Given the description of an element on the screen output the (x, y) to click on. 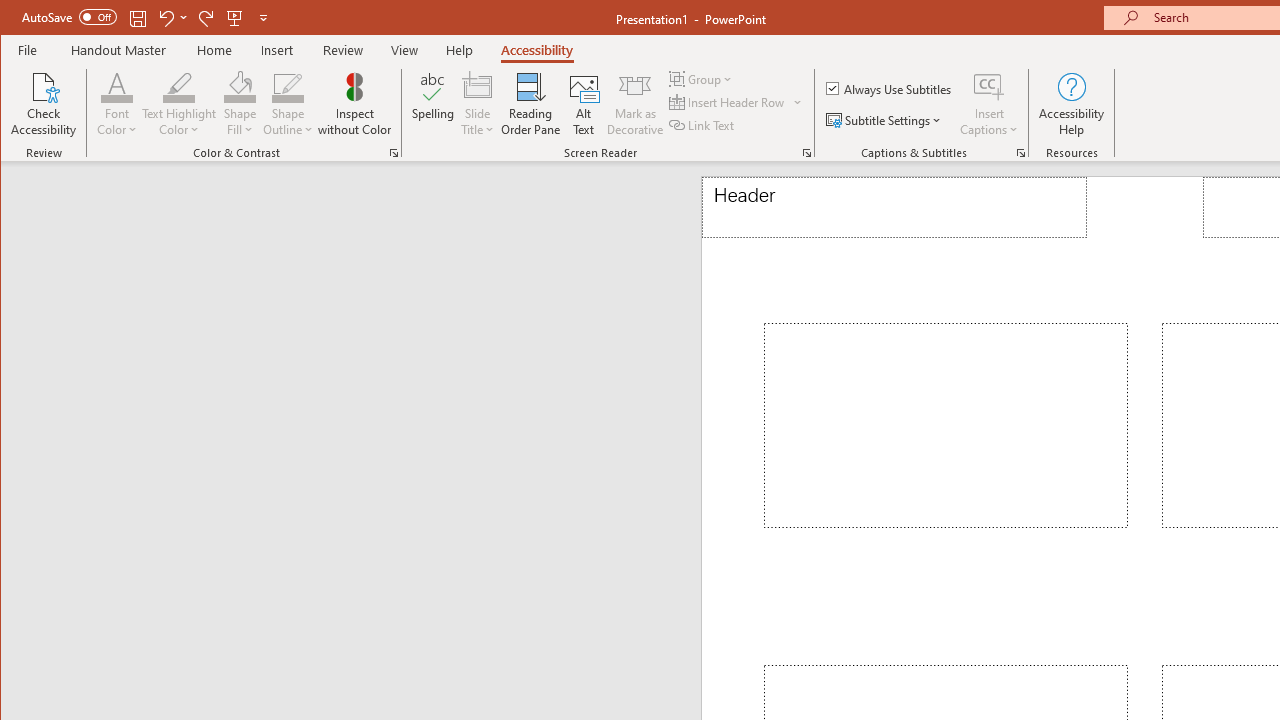
Handout Master (118, 50)
Insert Header Row (735, 101)
Insert Captions (989, 104)
Subtitle Settings (885, 119)
Mark as Decorative (635, 104)
Color & Contrast (393, 152)
Insert Header Row (728, 101)
